Given the description of an element on the screen output the (x, y) to click on. 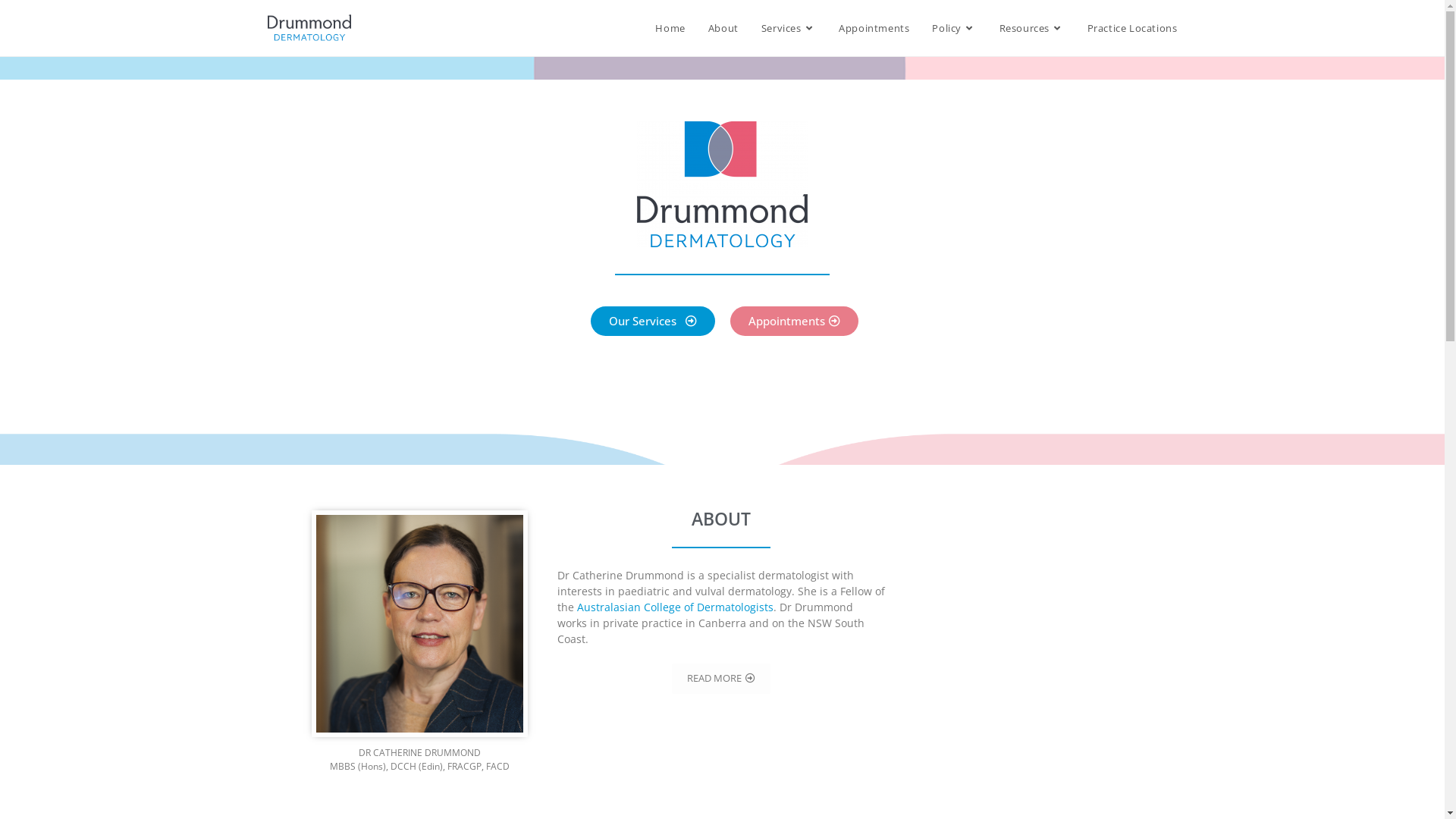
Policy Element type: text (953, 28)
READ MORE Element type: text (720, 678)
Resources Element type: text (1032, 28)
Appointments Element type: text (873, 28)
home-pg-logo Element type: hover (722, 184)
Home Element type: text (669, 28)
Australasian College of Dermatologists Element type: text (675, 606)
Our Services Element type: text (651, 320)
Appointments Element type: text (793, 320)
Services Element type: text (788, 28)
Practice Locations Element type: text (1132, 28)
About Element type: text (722, 28)
